Given the description of an element on the screen output the (x, y) to click on. 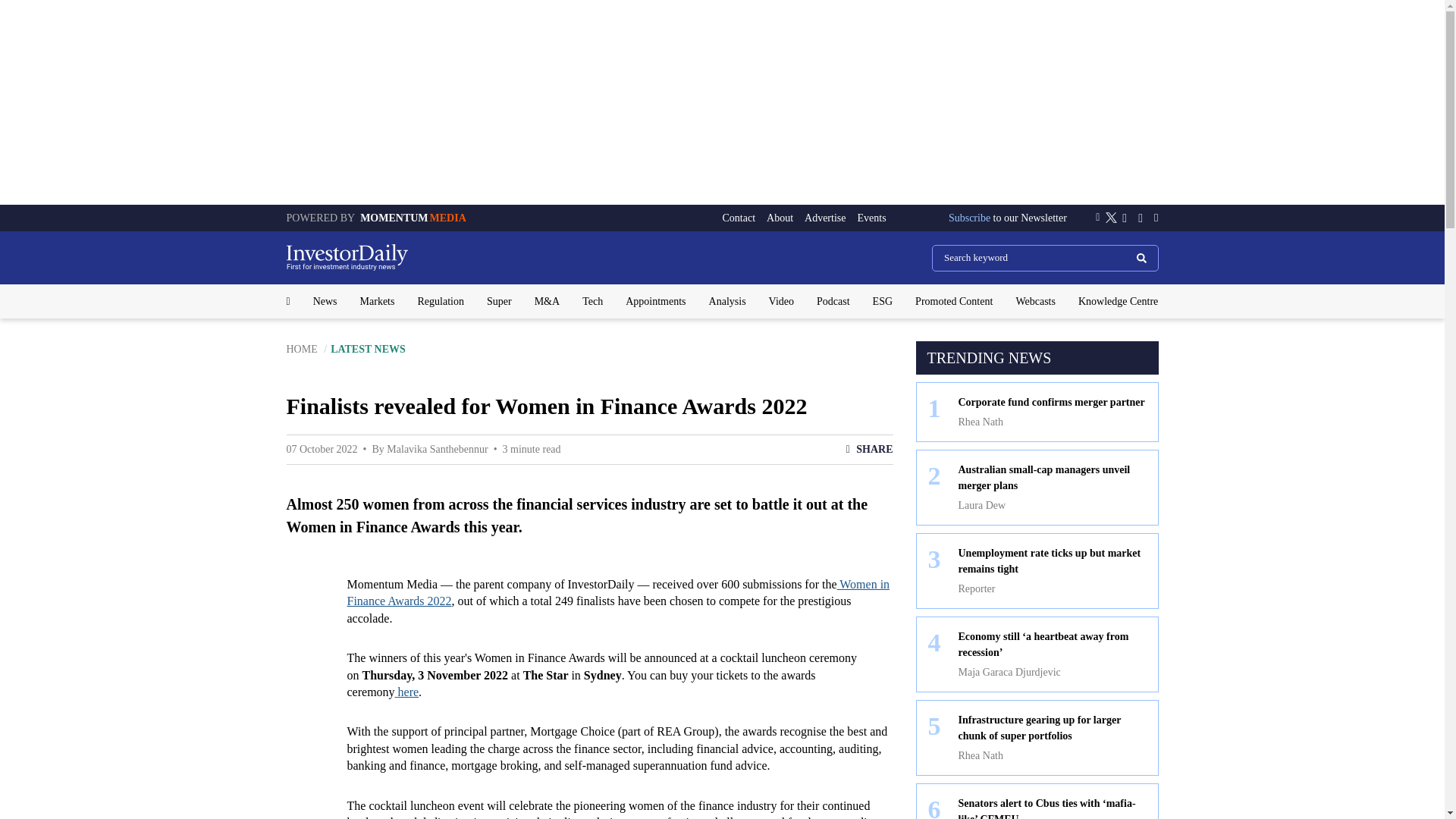
Contact (738, 217)
POWERED BY MOMENTUM MEDIA (375, 216)
About (780, 217)
Advertise (825, 217)
